Given the description of an element on the screen output the (x, y) to click on. 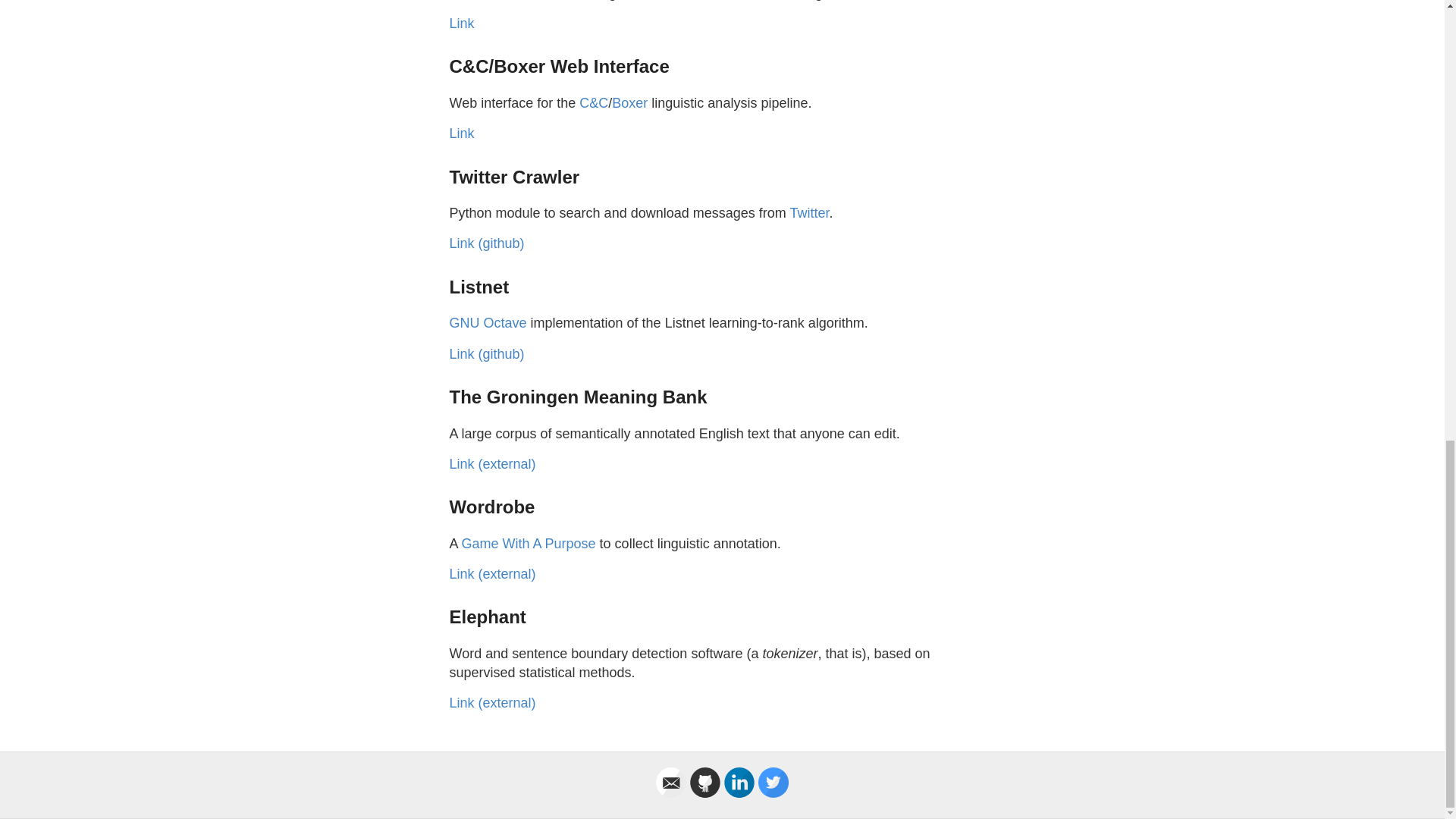
GNU Octave (486, 322)
Game With A Purpose (528, 543)
Link (461, 23)
Twitter (808, 212)
Delicious (647, 0)
Boxer (629, 102)
Link (461, 133)
